Given the description of an element on the screen output the (x, y) to click on. 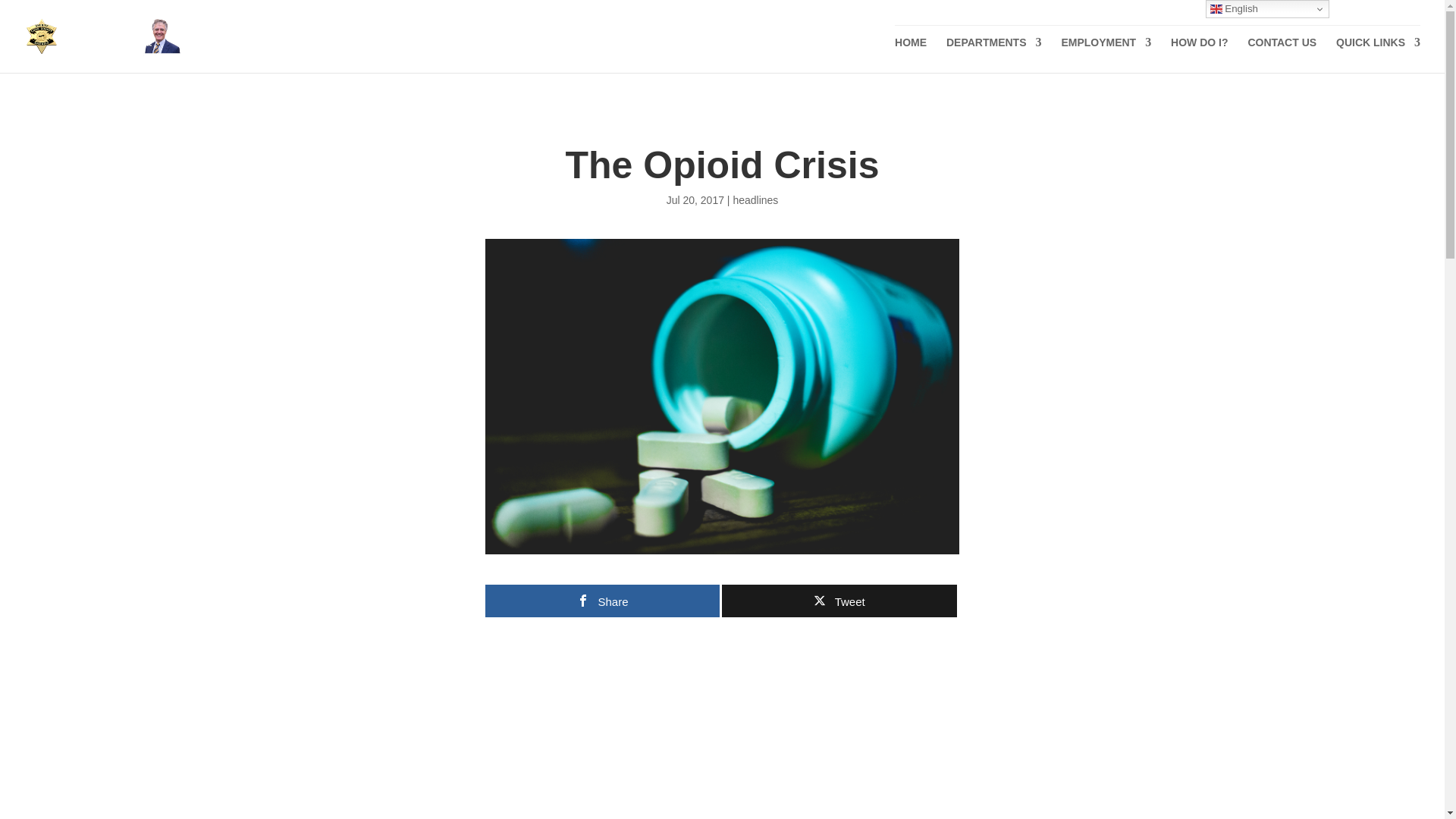
HOME (910, 54)
CONTACT US (1281, 54)
QUICK LINKS (1378, 54)
DEPARTMENTS (994, 54)
EMPLOYMENT (1106, 54)
HOW DO I? (1198, 54)
Breaking Free: Dispatches from the Opioid Crisis (721, 742)
